Given the description of an element on the screen output the (x, y) to click on. 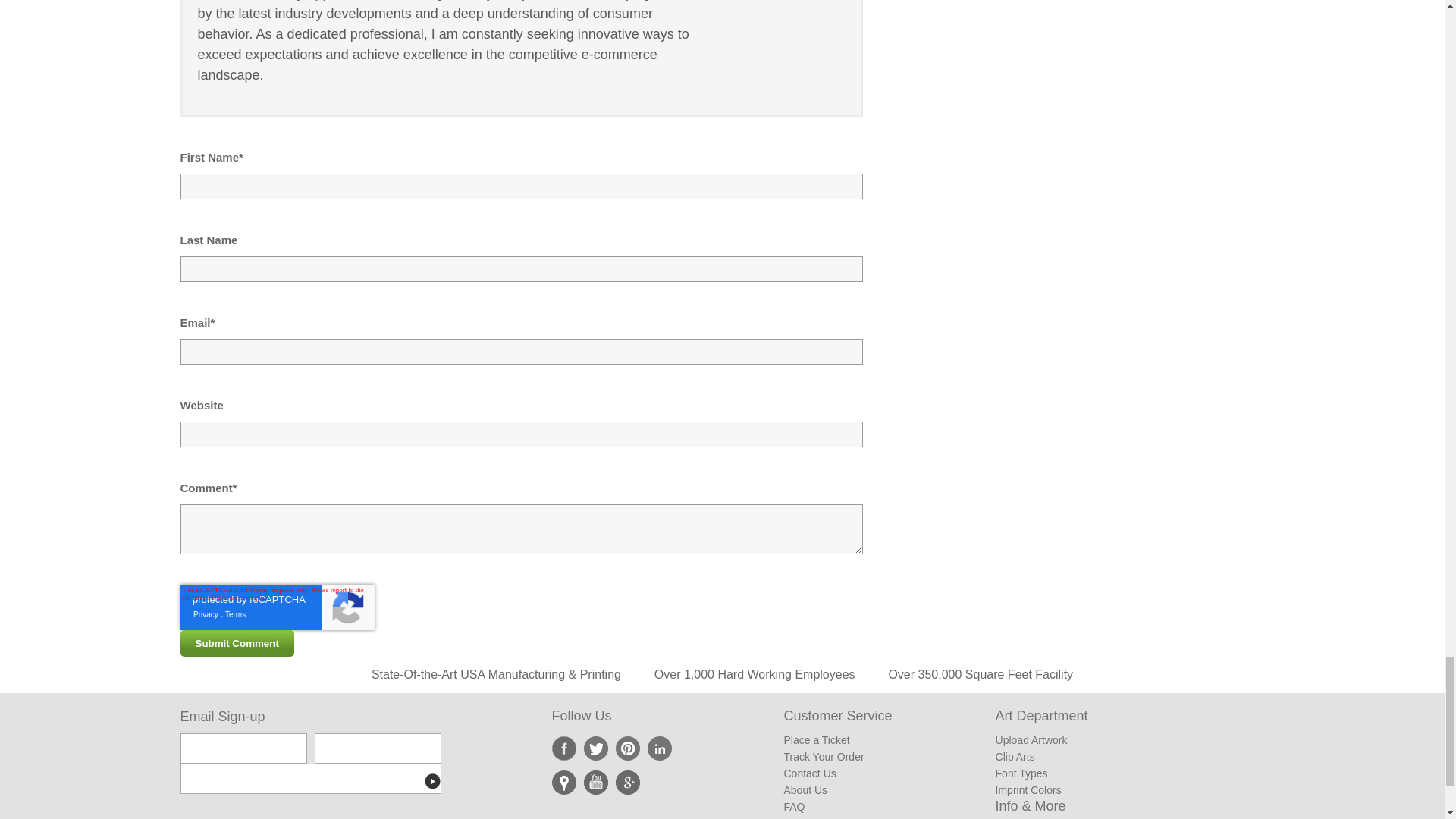
Youtube (595, 782)
Linkedin (659, 748)
Twitter (595, 748)
Google Places (563, 782)
Submit (432, 781)
reCAPTCHA (277, 606)
Submit Comment (237, 642)
Google Plus (627, 782)
Pinterest (627, 748)
Facebook (563, 748)
